Given the description of an element on the screen output the (x, y) to click on. 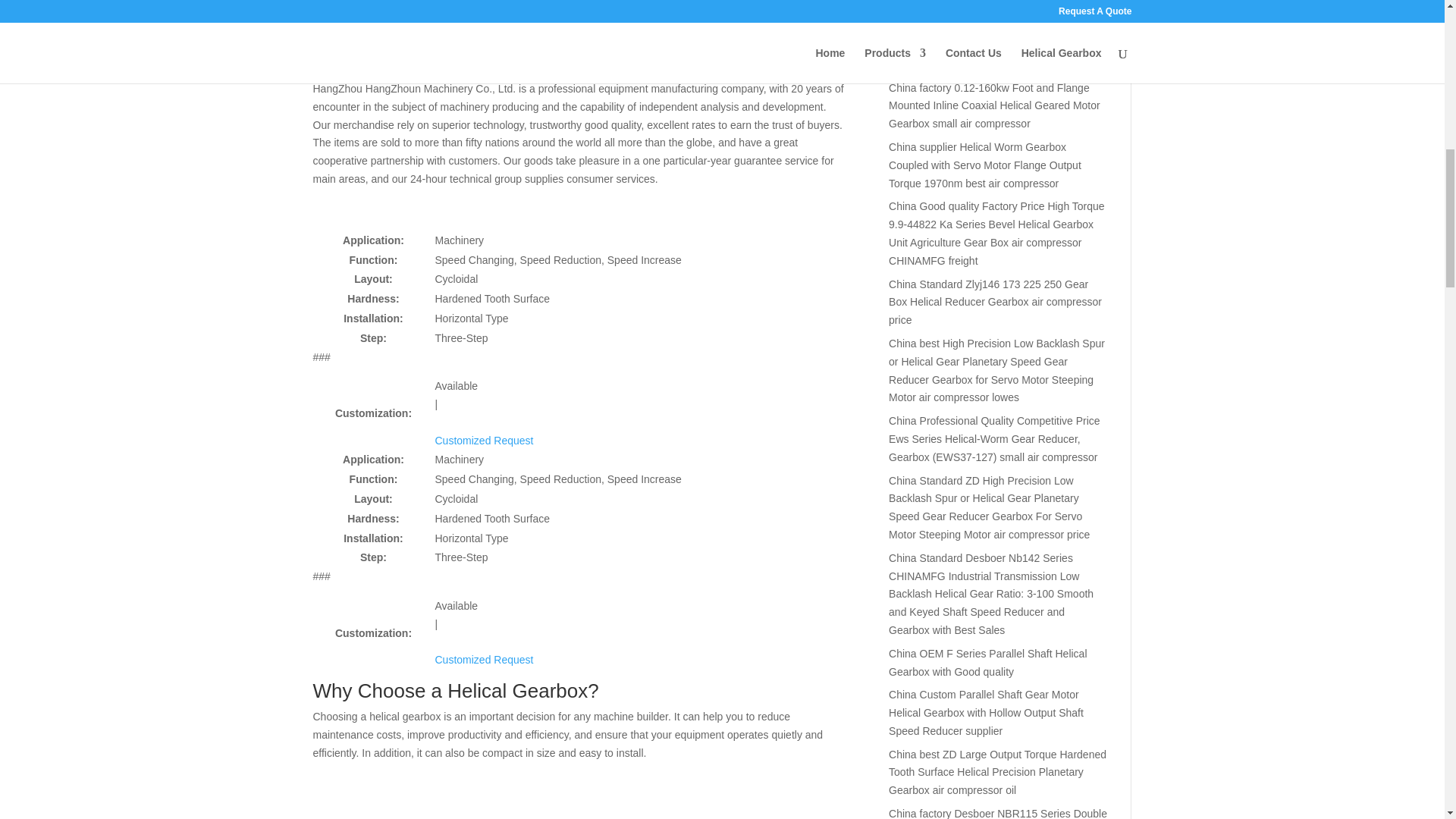
Customized Request (484, 668)
